Given the description of an element on the screen output the (x, y) to click on. 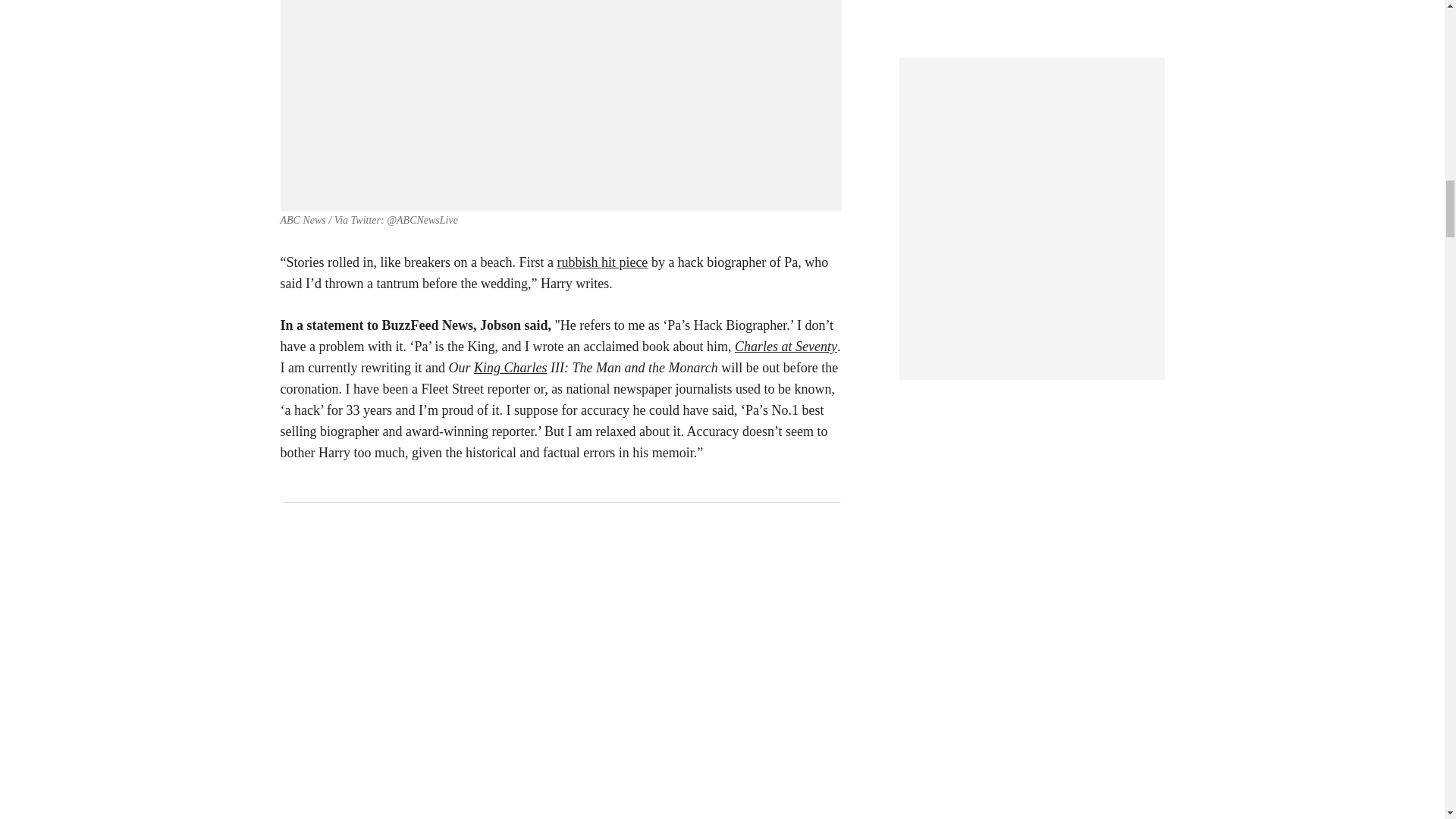
rubbish hit piece (601, 262)
Charles at Seventy (786, 346)
King Charles (510, 367)
